Given the description of an element on the screen output the (x, y) to click on. 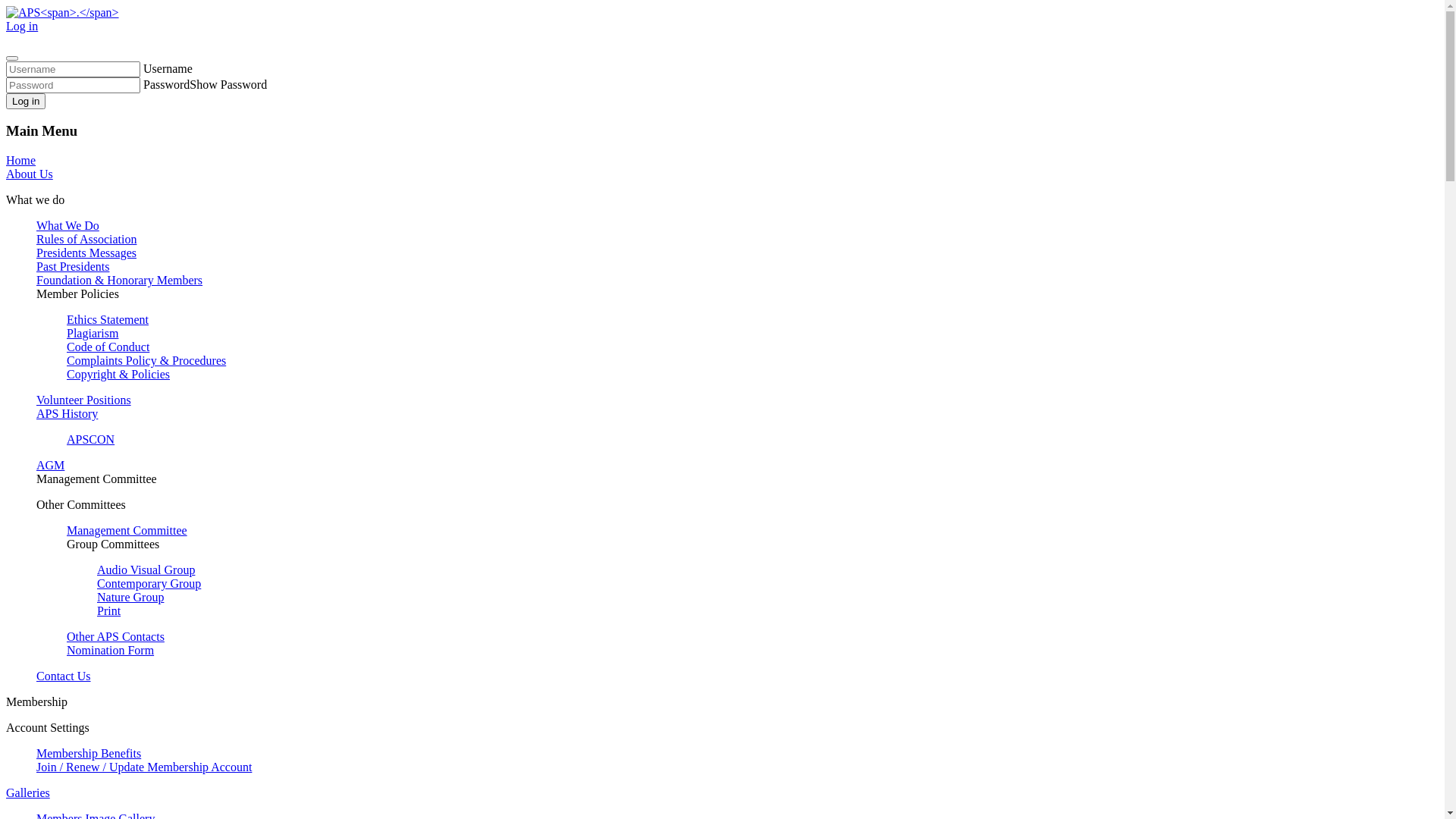
Membership Element type: text (36, 701)
Show Password Element type: text (227, 84)
Copyright & Policies Element type: text (117, 373)
Complaints Policy & Procedures Element type: text (145, 360)
APSCON Element type: text (90, 439)
Galleries Element type: text (28, 792)
Contact Us Element type: text (63, 675)
Group Committees Element type: text (112, 543)
Past Presidents Element type: text (72, 266)
What We Do Element type: text (67, 225)
Membership Benefits Element type: text (88, 752)
Audio Visual Group Element type: text (145, 569)
Print Element type: text (108, 610)
Volunteer Positions Element type: text (83, 399)
Nature Group Element type: text (130, 596)
Management Committee Element type: text (126, 530)
Home Element type: text (20, 159)
Nomination Form Element type: text (109, 649)
Code of Conduct Element type: text (107, 346)
Contemporary Group Element type: text (148, 583)
AGM Element type: text (50, 464)
Join / Renew / Update Membership Account Element type: text (143, 766)
Management Committee Element type: text (96, 478)
Member Policies Element type: text (77, 293)
APS History Element type: text (66, 413)
About Us Element type: text (29, 173)
APS Element type: hover (62, 12)
Log in Element type: text (21, 25)
Other APS Contacts Element type: text (115, 636)
Ethics Statement Element type: text (107, 319)
Log in Element type: text (25, 101)
Foundation & Honorary Members Element type: text (119, 279)
Plagiarism Element type: text (92, 332)
Rules of Association Element type: text (86, 238)
Presidents Messages Element type: text (86, 252)
